Given the description of an element on the screen output the (x, y) to click on. 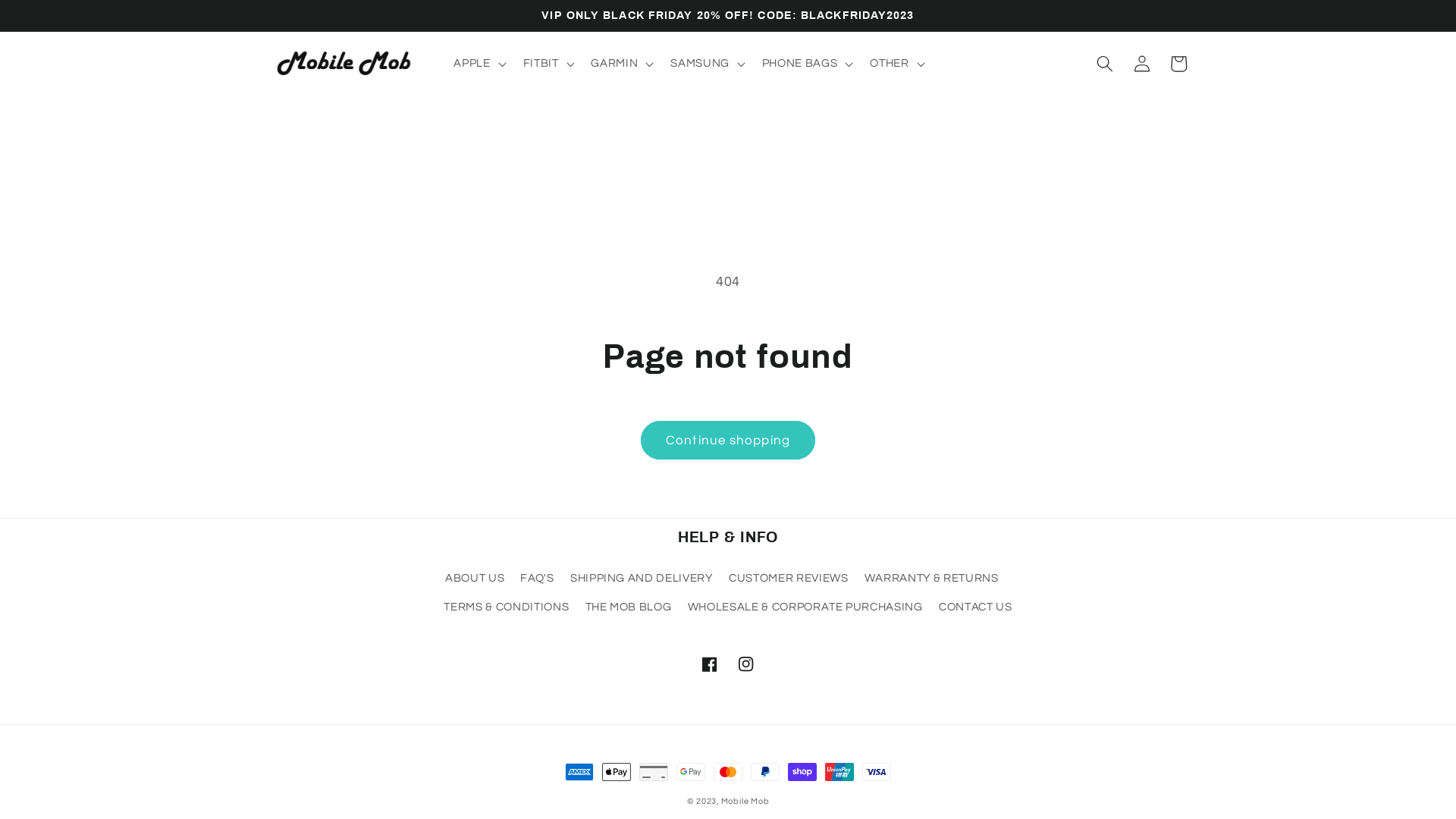
Cart Element type: text (1178, 63)
WARRANTY & RETURNS Element type: text (931, 578)
WHOLESALE & CORPORATE PURCHASING Element type: text (804, 606)
CUSTOMER REVIEWS Element type: text (788, 578)
Log in Element type: text (1141, 63)
ABOUT US Element type: text (474, 579)
SHIPPING AND DELIVERY Element type: text (641, 578)
Instagram Element type: text (746, 664)
THE MOB BLOG Element type: text (628, 606)
Facebook Element type: text (709, 664)
Continue shopping Element type: text (727, 440)
FAQ'S Element type: text (536, 578)
CONTACT US Element type: text (975, 606)
TERMS & CONDITIONS Element type: text (505, 606)
